Given the description of an element on the screen output the (x, y) to click on. 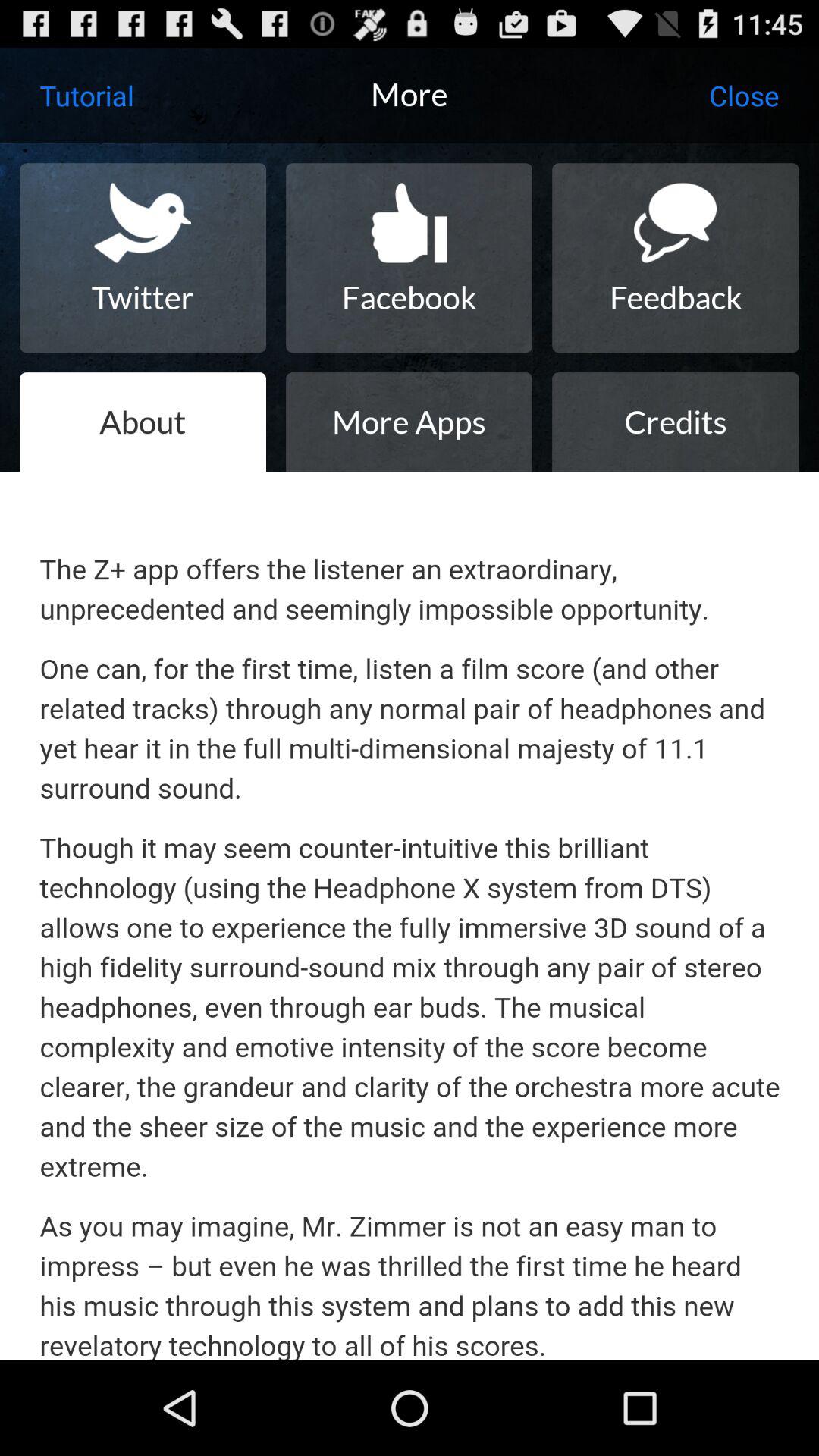
turn off the credits icon (675, 422)
